Given the description of an element on the screen output the (x, y) to click on. 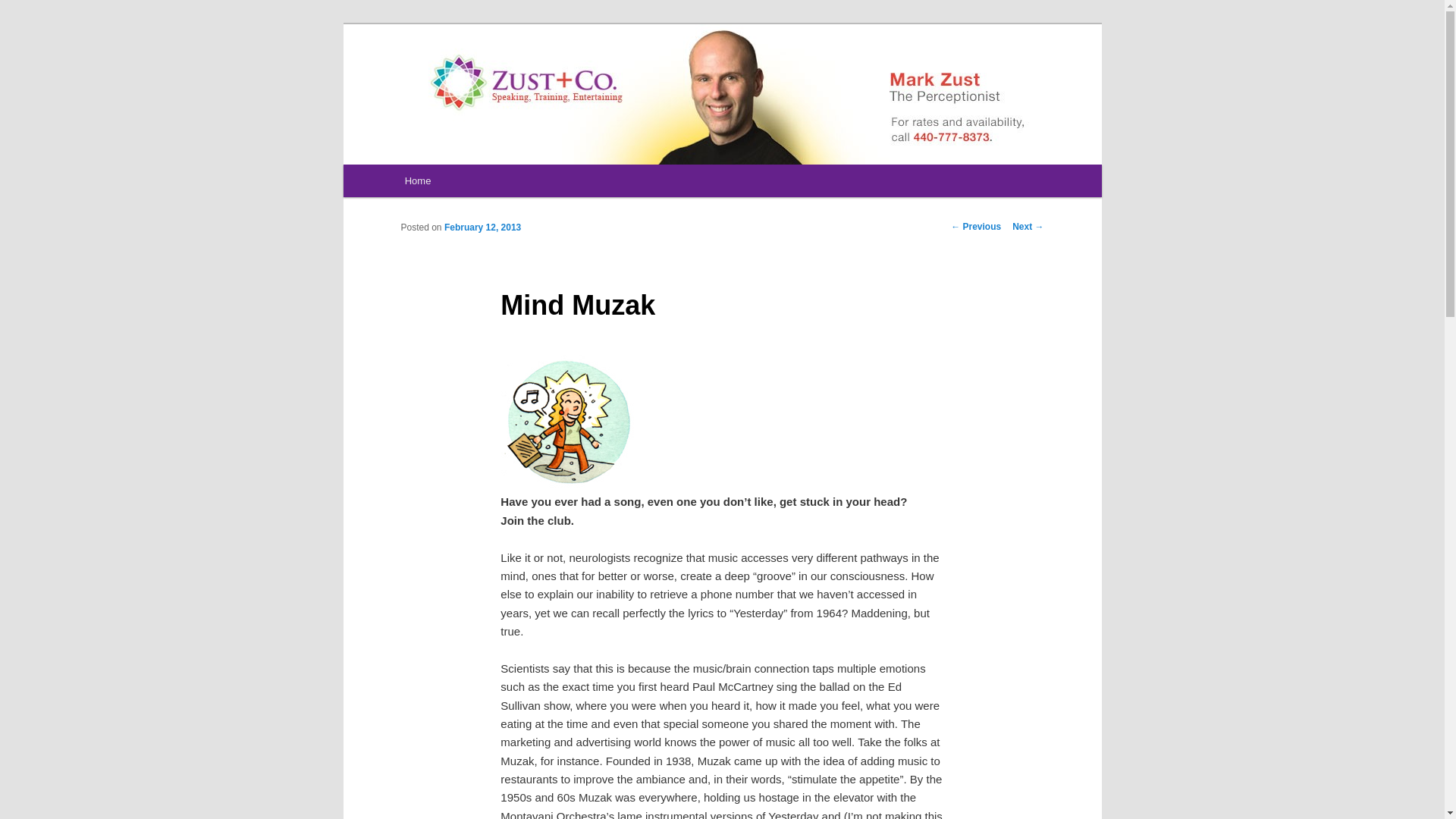
Skip to primary content (472, 183)
Skip to secondary content (479, 183)
February 12, 2013 (482, 226)
Skip to secondary content (479, 183)
8:22 pm (482, 226)
Home (417, 180)
Mark Zust (454, 78)
Skip to primary content (472, 183)
Mark Zust (454, 78)
